Given the description of an element on the screen output the (x, y) to click on. 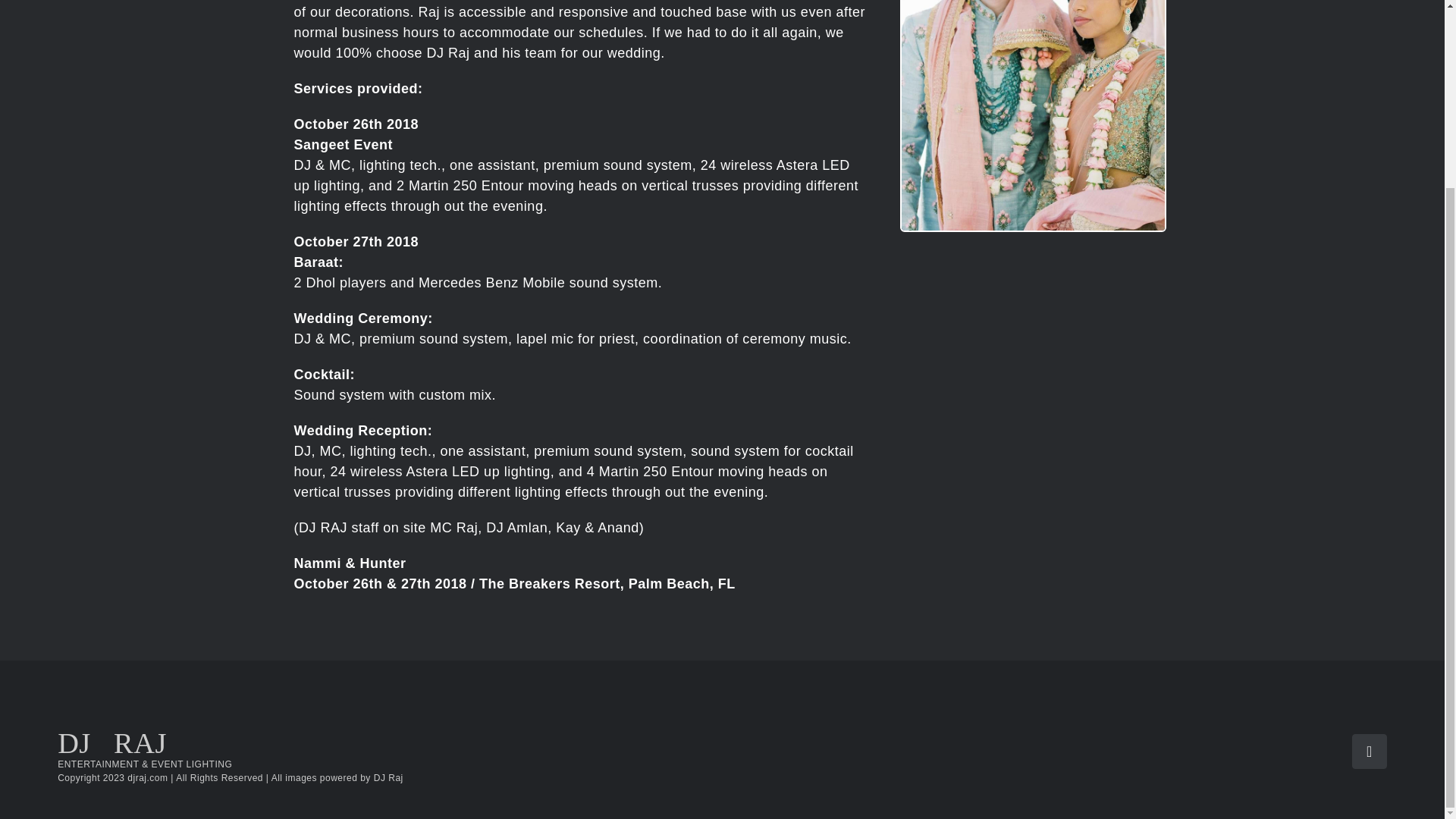
Instagram (1369, 751)
DJ Raj (388, 777)
